Given the description of an element on the screen output the (x, y) to click on. 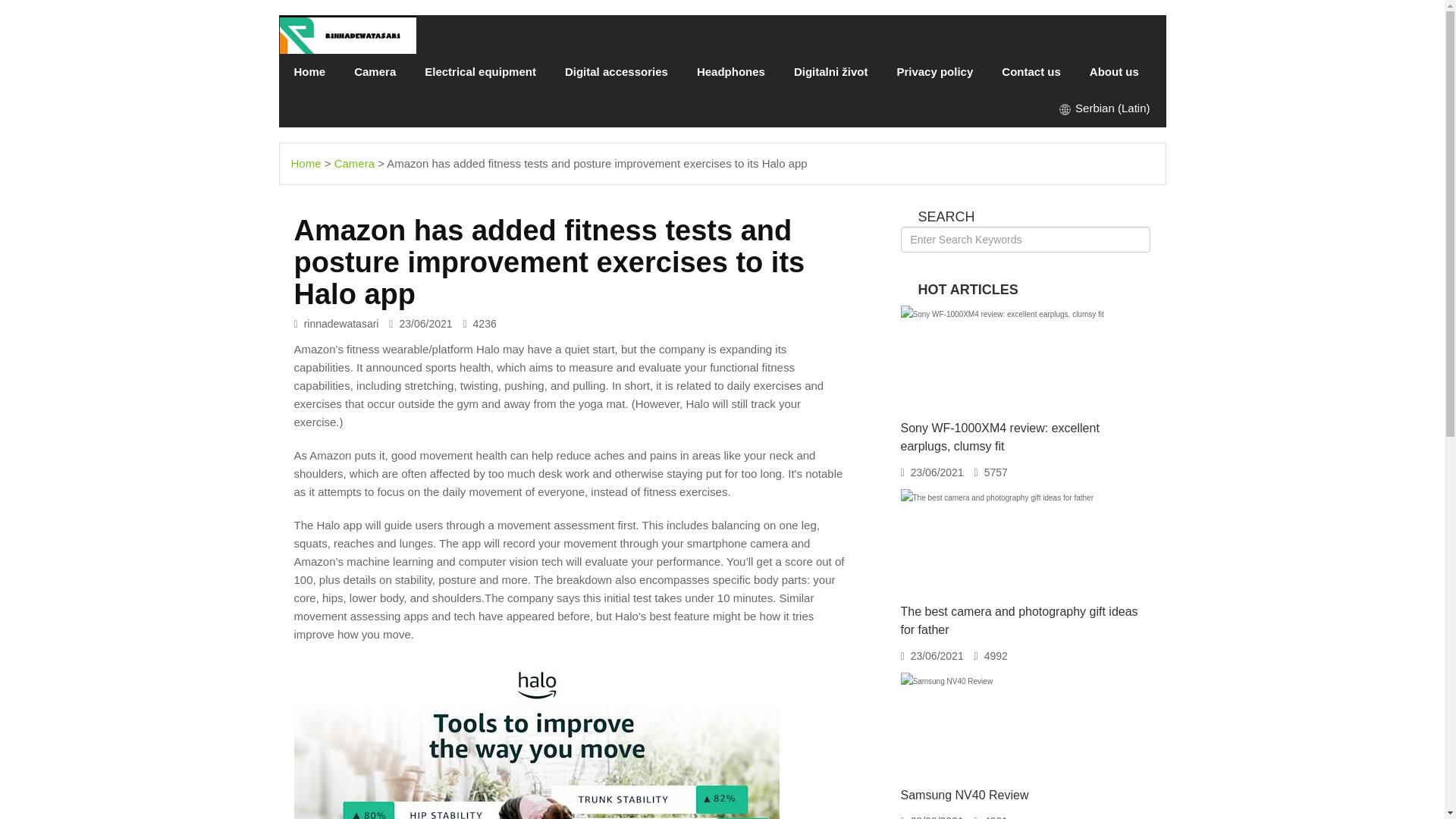
Camera (374, 72)
Contact us (1031, 72)
Privacy policy (934, 72)
Camera (374, 72)
The best camera and photography gift ideas for father (1019, 620)
Contact us (1031, 72)
rinnadewatasari (347, 35)
Privacy policy (934, 72)
Electrical equipment (480, 72)
Headphones (730, 72)
Digital accessories (616, 72)
Electrical equipment (480, 72)
Home (309, 72)
Digital accessories (616, 72)
Samsung NV40 Review (965, 794)
